Given the description of an element on the screen output the (x, y) to click on. 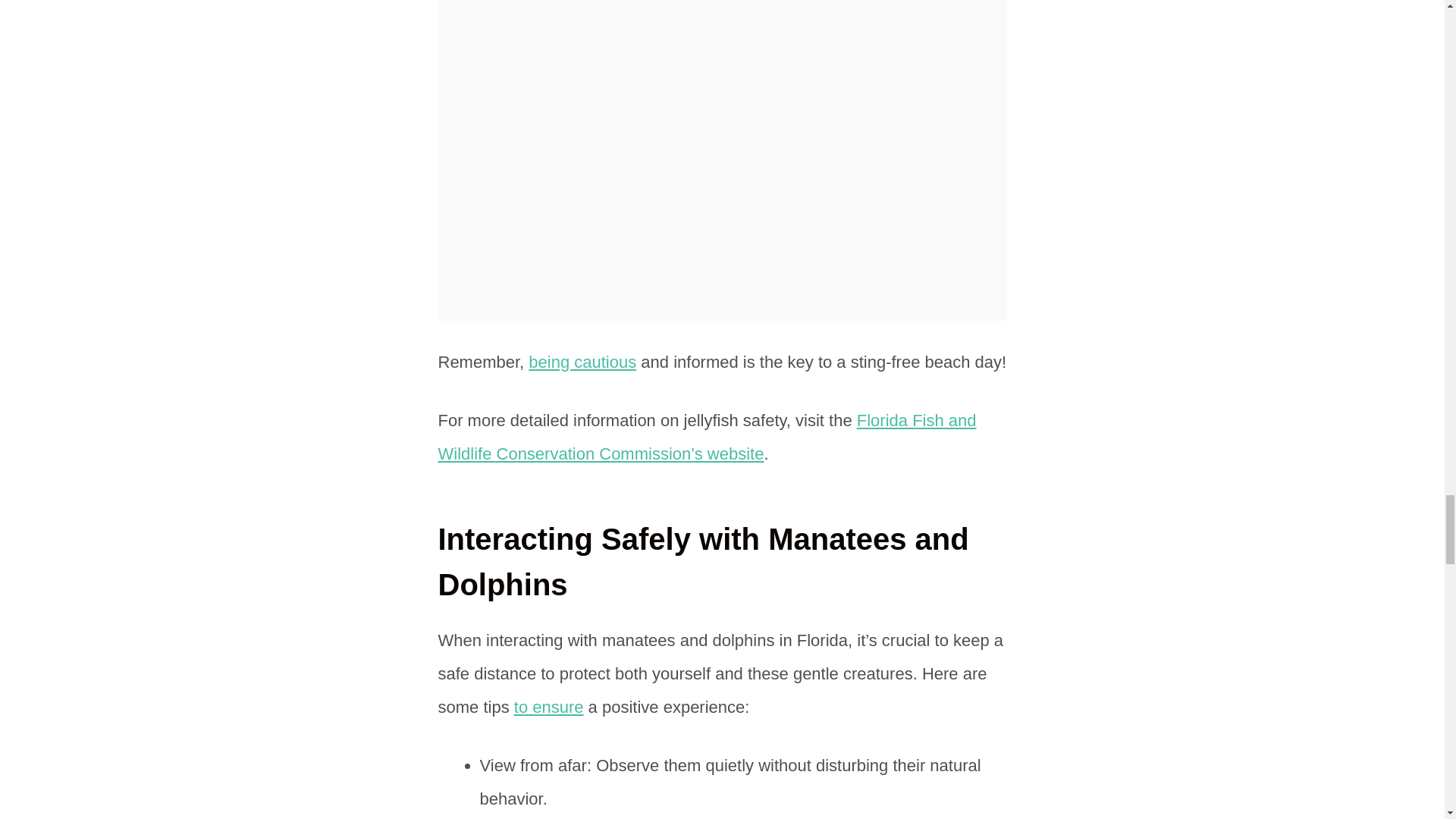
to ensure (548, 706)
being cautious (582, 361)
